Given the description of an element on the screen output the (x, y) to click on. 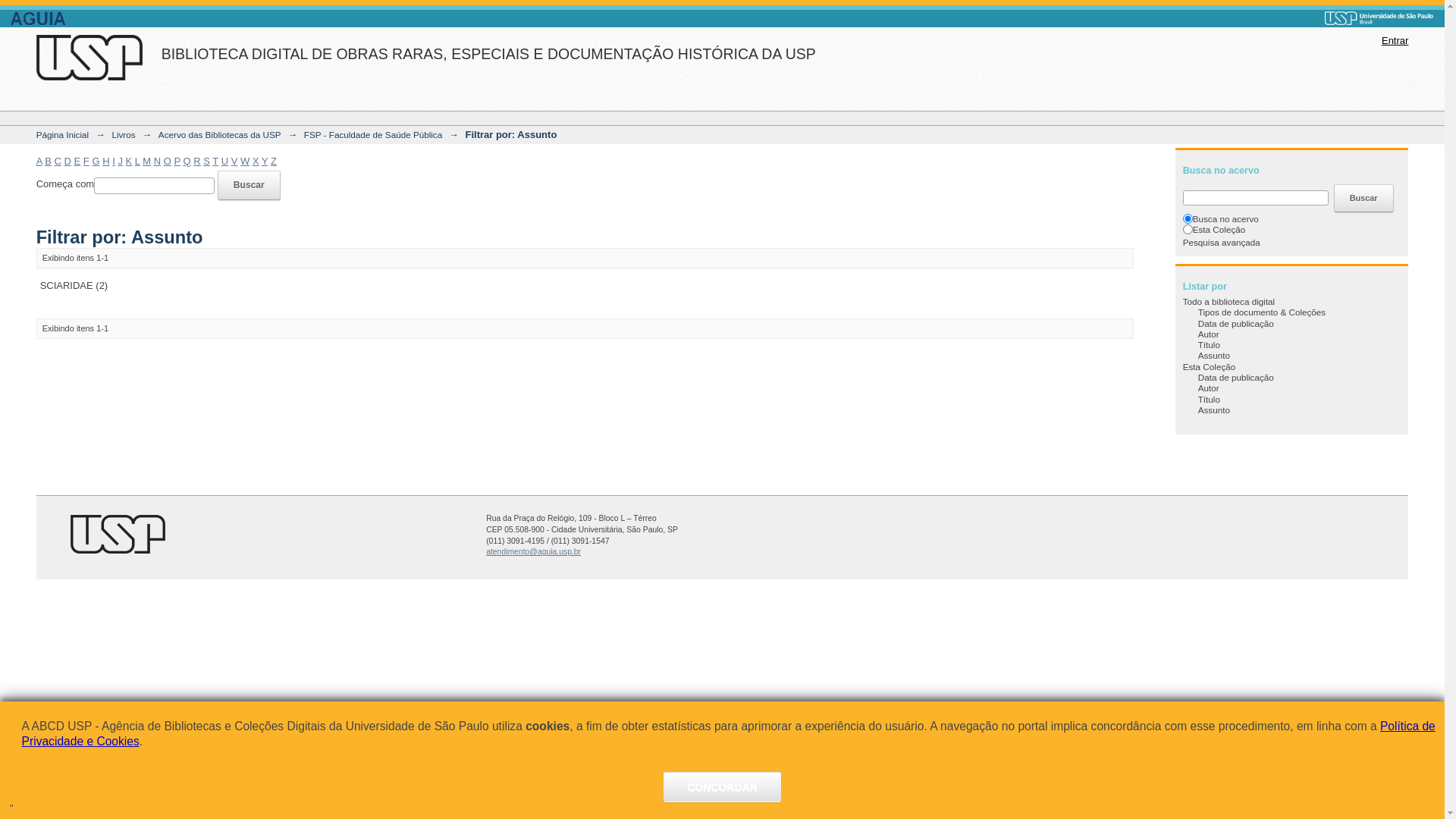
E Element type: text (77, 160)
R Element type: text (196, 160)
H Element type: text (105, 160)
I Element type: text (113, 160)
Y Element type: text (264, 160)
Buscar Element type: text (248, 184)
CONCORDAR Element type: text (722, 786)
A Element type: text (39, 160)
Assunto Element type: text (1214, 355)
Buscar Element type: text (1363, 198)
Livros Element type: text (122, 134)
L Element type: text (137, 160)
T Element type: text (215, 160)
S Element type: text (206, 160)
Q Element type: text (187, 160)
B Element type: text (47, 160)
Assunto Element type: text (1214, 409)
  Element type: text (138, 529)
K Element type: text (128, 160)
D Element type: text (67, 160)
J Element type: text (119, 160)
F Element type: text (86, 160)
Z Element type: text (273, 160)
U Element type: text (224, 160)
G Element type: text (95, 160)
X Element type: text (255, 160)
V Element type: text (234, 160)
atendimento@aguia.usp.br Element type: text (533, 551)
W Element type: text (244, 160)
Autor Element type: text (1208, 387)
O Element type: text (167, 160)
P Element type: text (176, 160)
Autor Element type: text (1208, 333)
CONCORDAR Element type: text (722, 786)
M Element type: text (146, 160)
Entrar Element type: text (1394, 40)
Ou entre as primeiras letras: Element type: hover (154, 185)
N Element type: text (156, 160)
C Element type: text (57, 160)
Acervo das Bibliotecas da USP Element type: text (219, 134)
